Given the description of an element on the screen output the (x, y) to click on. 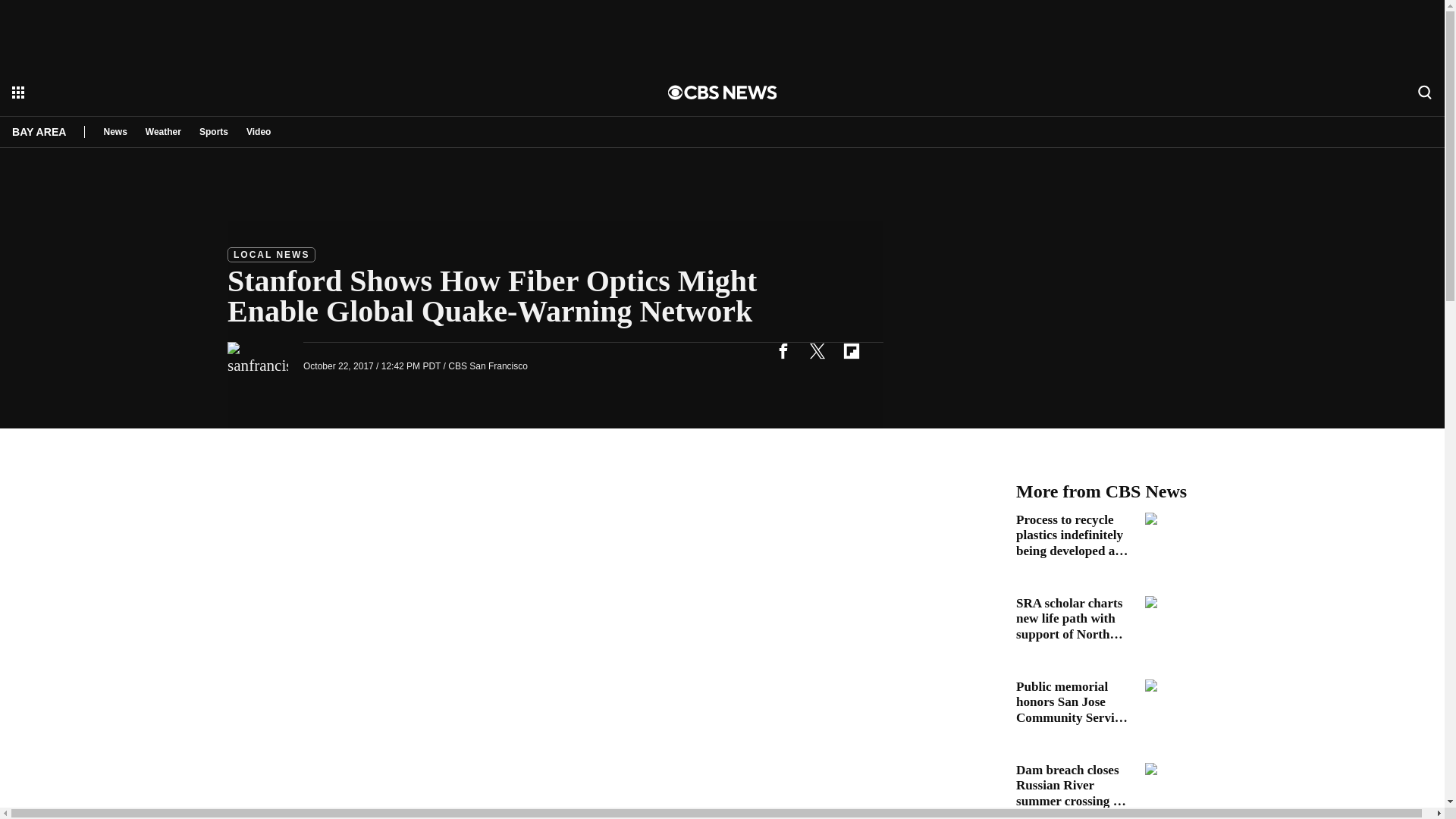
facebook (782, 350)
twitter (816, 350)
flipboard (850, 350)
